Given the description of an element on the screen output the (x, y) to click on. 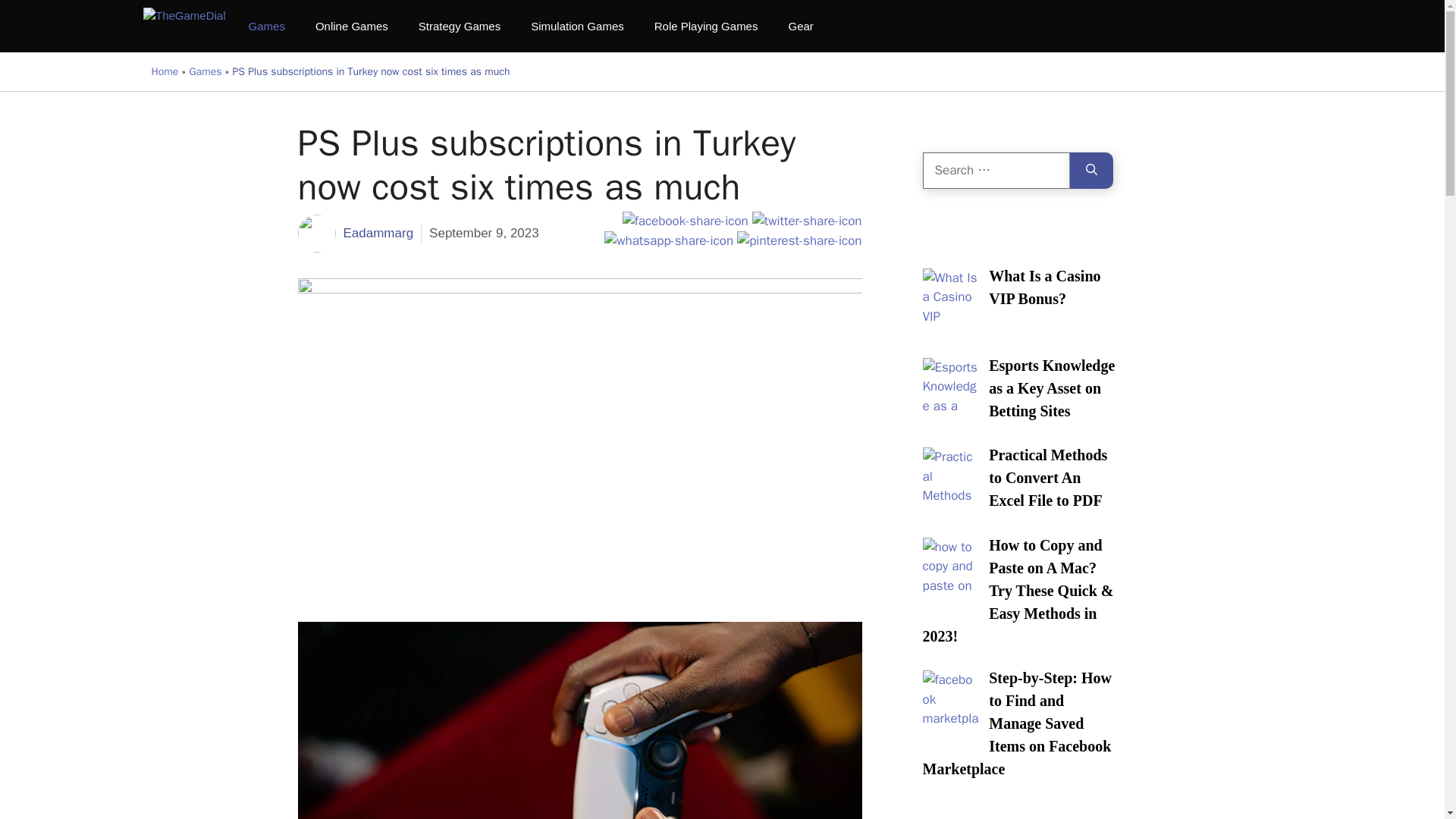
Role Playing Games (706, 25)
Games (265, 25)
Gear (800, 25)
Games (205, 71)
Search for: (994, 170)
What Is a Casino VIP Bonus? (1044, 287)
Eadammarg (377, 233)
View all posts by Eadammarg (377, 233)
Strategy Games (459, 25)
Tweet this (806, 220)
